Given the description of an element on the screen output the (x, y) to click on. 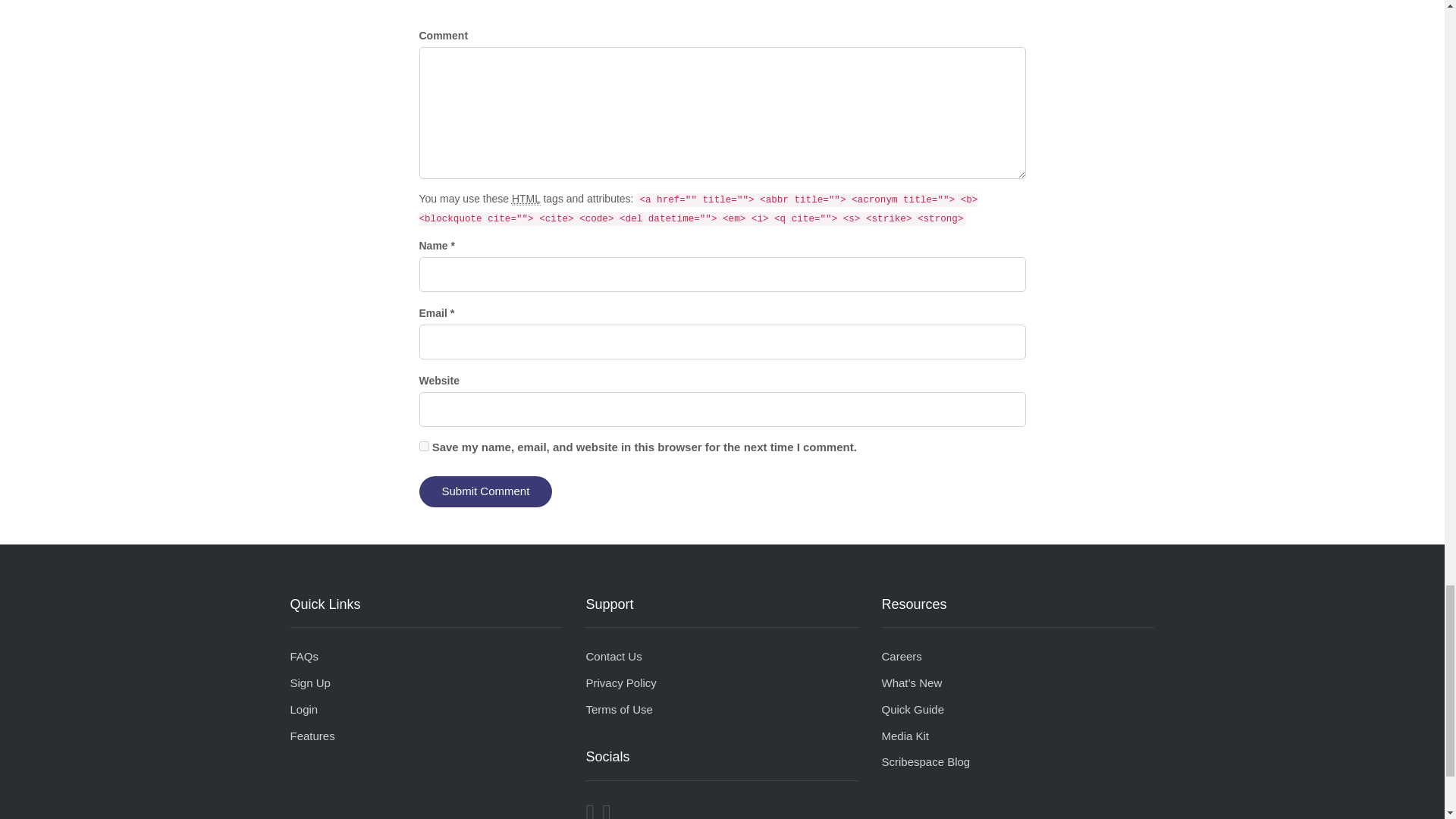
HyperText Markup Language (526, 198)
Privacy Policy (620, 682)
yes (423, 446)
Terms of Use (618, 708)
Contact Us (613, 656)
Submit Comment (485, 490)
Quick Guide (911, 708)
Features (311, 735)
Scribespace Blog (924, 761)
Submit Comment (485, 490)
Login (303, 708)
Media Kit (904, 735)
Sign Up (309, 682)
